Given the description of an element on the screen output the (x, y) to click on. 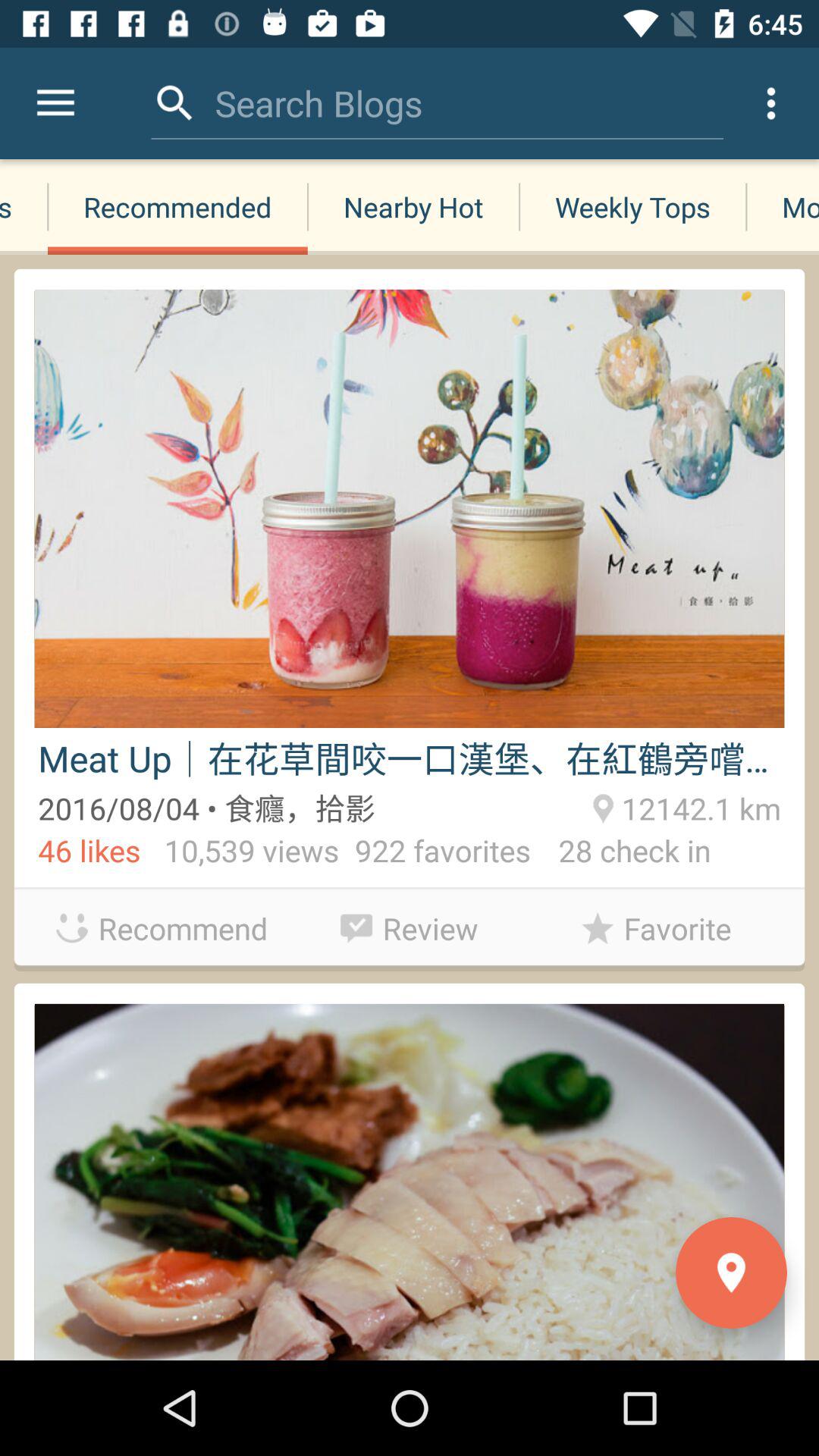
scroll to the monthly tops item (782, 206)
